Given the description of an element on the screen output the (x, y) to click on. 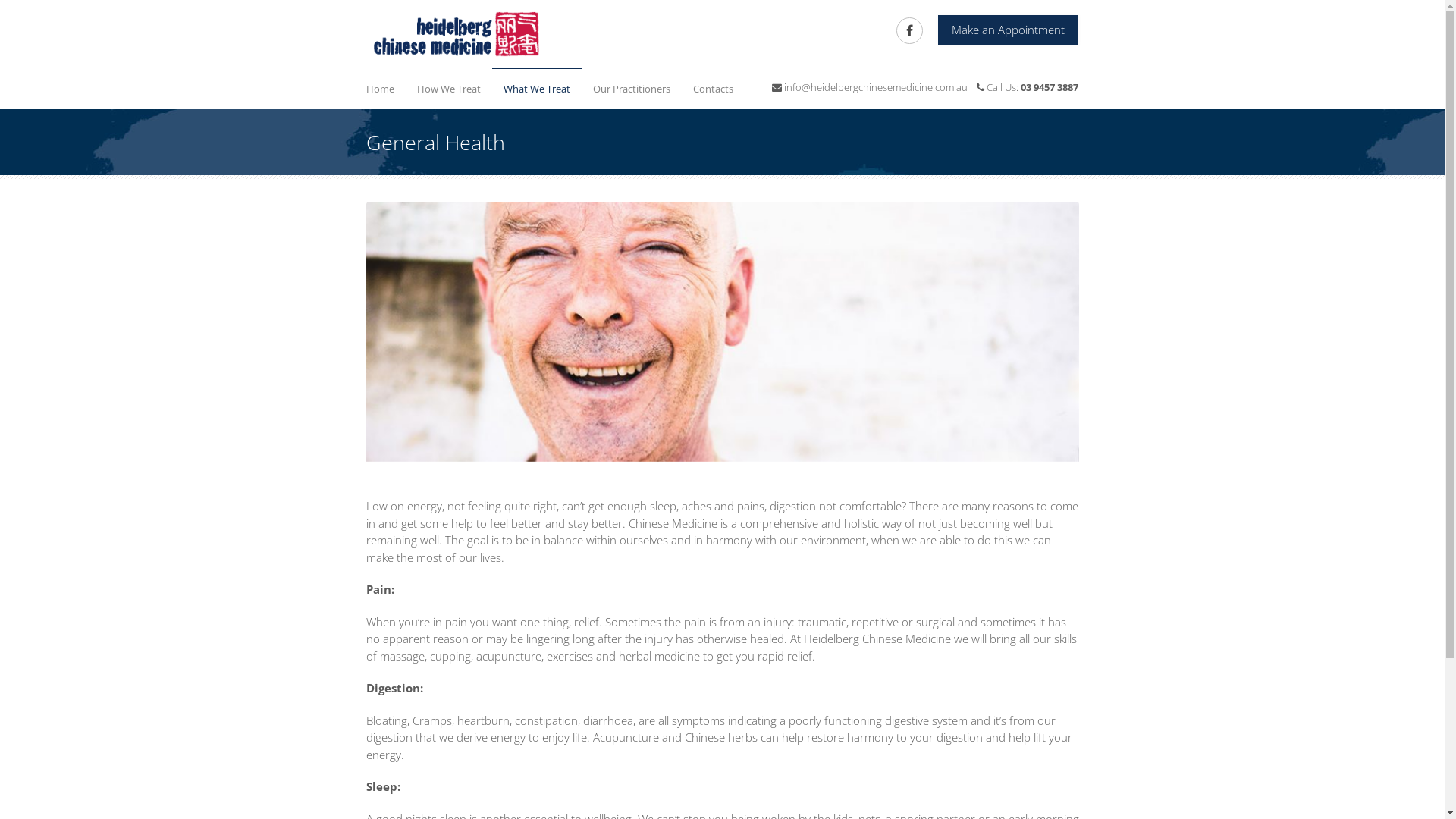
Our Practitioners Element type: text (630, 88)
What We Treat Element type: text (535, 88)
Contacts Element type: text (711, 88)
Home Element type: text (379, 88)
Make an Appointment Element type: text (1008, 29)
How We Treat Element type: text (447, 88)
